Given the description of an element on the screen output the (x, y) to click on. 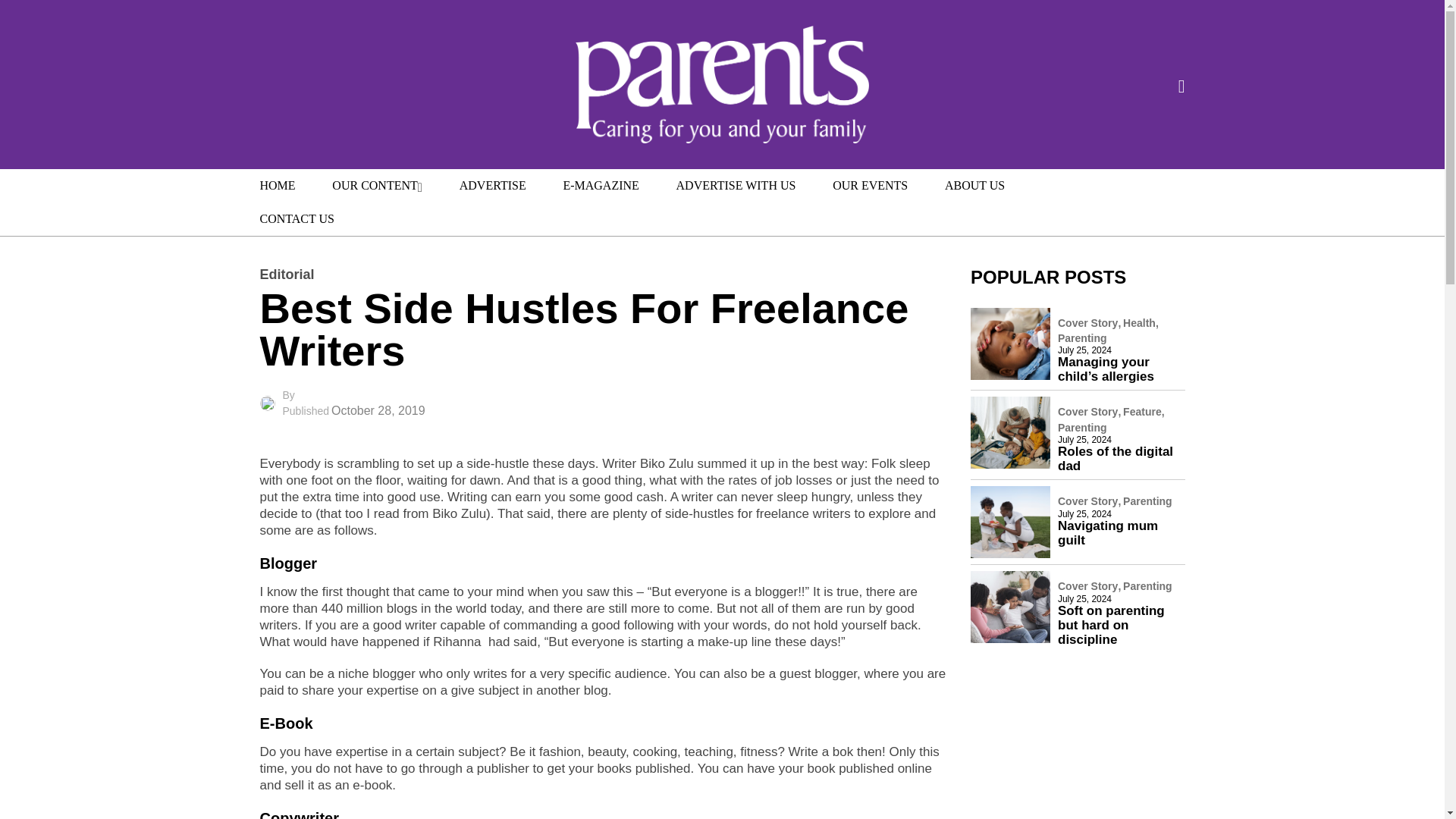
HOME (277, 185)
ADVERTISE (492, 185)
OUR CONTENT (377, 185)
